Given the description of an element on the screen output the (x, y) to click on. 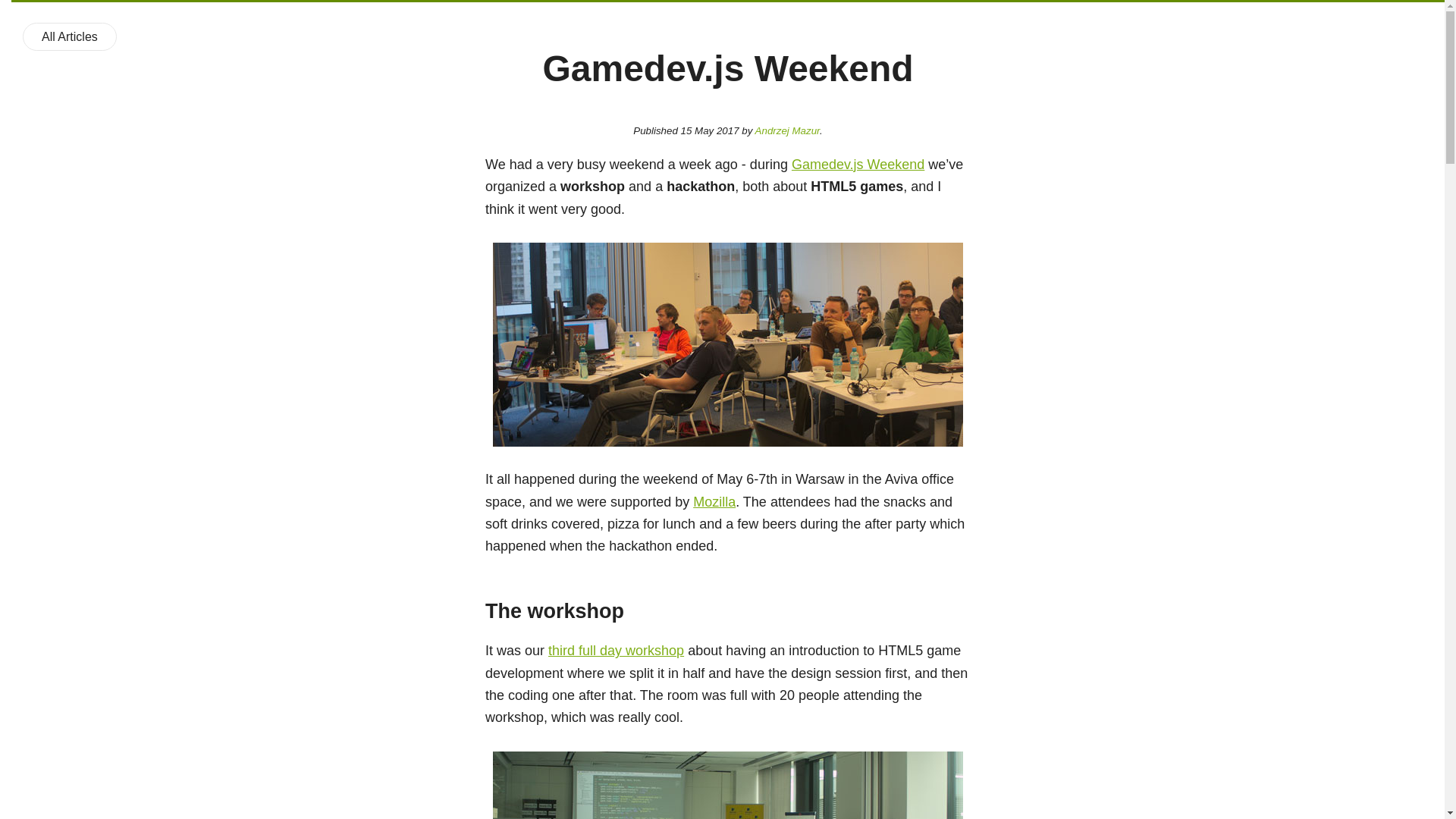
Andrzej Mazur (787, 130)
All Articles (69, 36)
Mozilla (714, 501)
Gamedev.js Weekend (858, 164)
third full day workshop (616, 650)
